Given the description of an element on the screen output the (x, y) to click on. 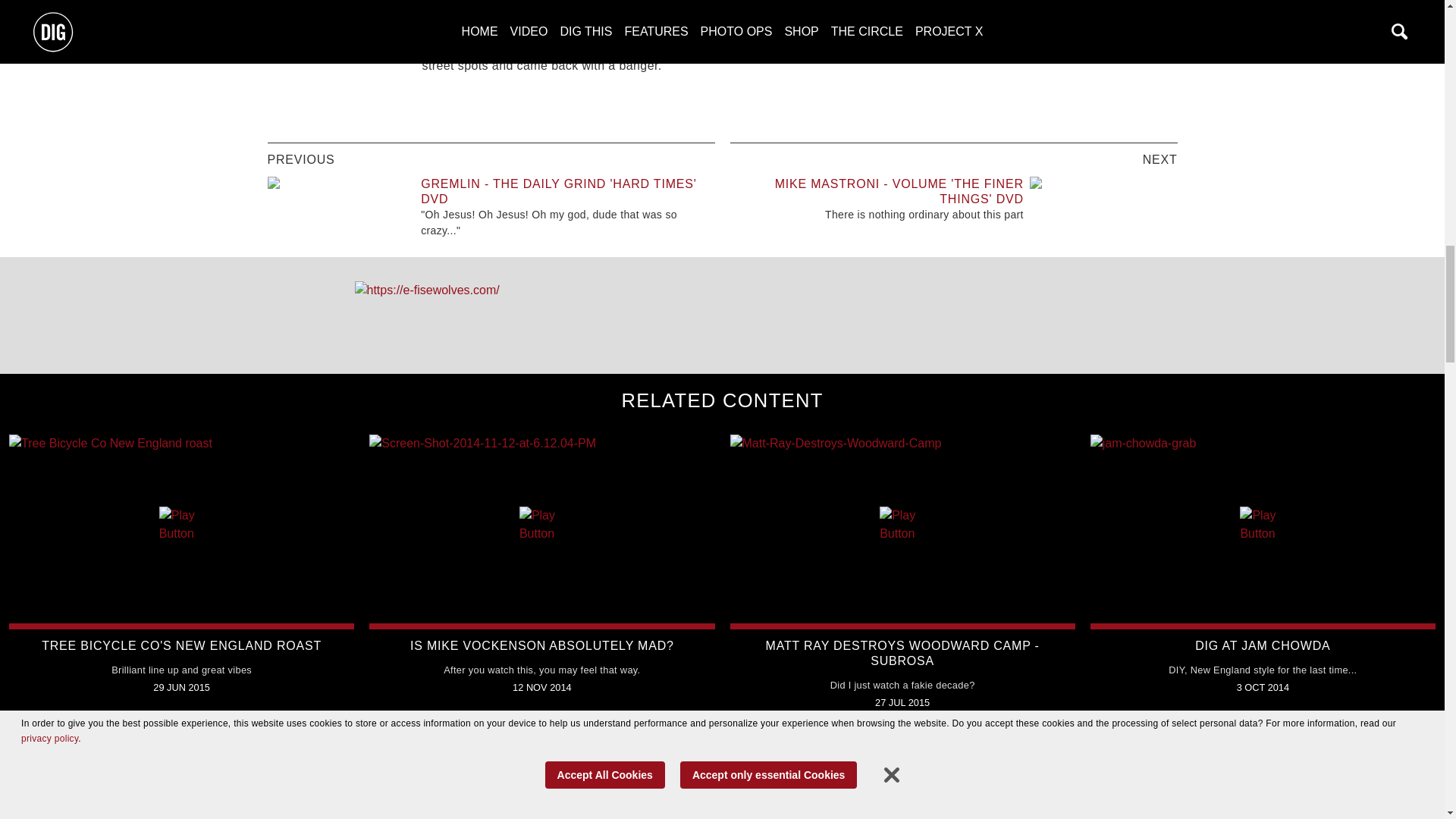
TREE BICYCLE CO'S NEW ENGLAND ROAST (181, 645)
MIKE MASTRONI - VOLUME 'THE FINER THINGS' DVD (898, 191)
MATT RAY DESTROYS WOODWARD CAMP - SUBROSA (902, 653)
GREMLIN - THE DAILY GRIND 'HARD TIMES' DVD (557, 191)
IS MIKE VOCKENSON ABSOLUTELY MAD? (542, 645)
